Given the description of an element on the screen output the (x, y) to click on. 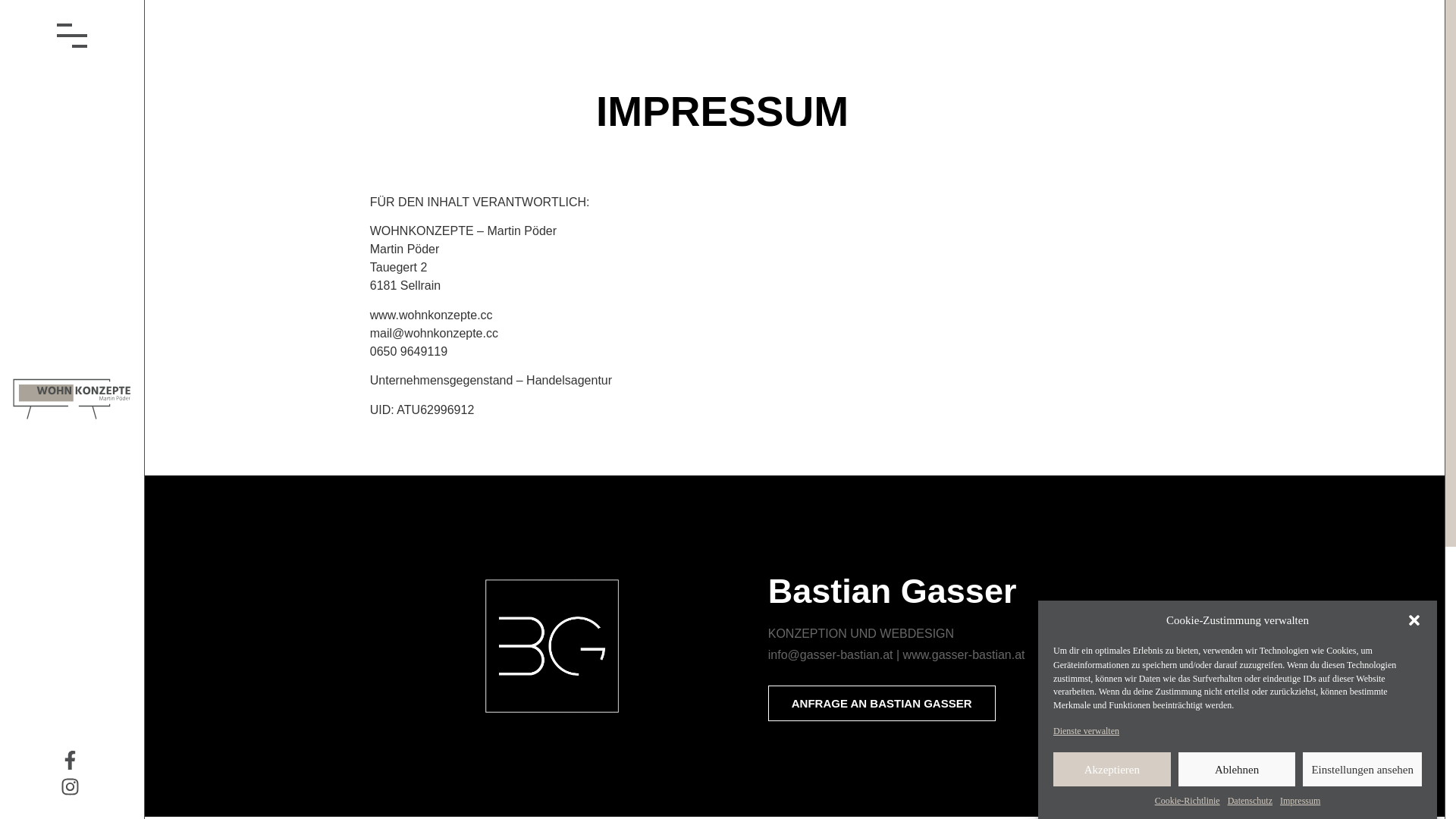
ANFRAGE AN BASTIAN GASSER Element type: text (881, 703)
Akzeptieren Element type: text (1111, 769)
Ablehnen Element type: text (1236, 769)
Dienste verwalten Element type: text (1086, 730)
Cookie-Richtlinie Element type: text (1187, 800)
Datenschutz Element type: text (1249, 800)
Einstellungen ansehen Element type: text (1361, 769)
Impressum Element type: text (1300, 800)
